Given the description of an element on the screen output the (x, y) to click on. 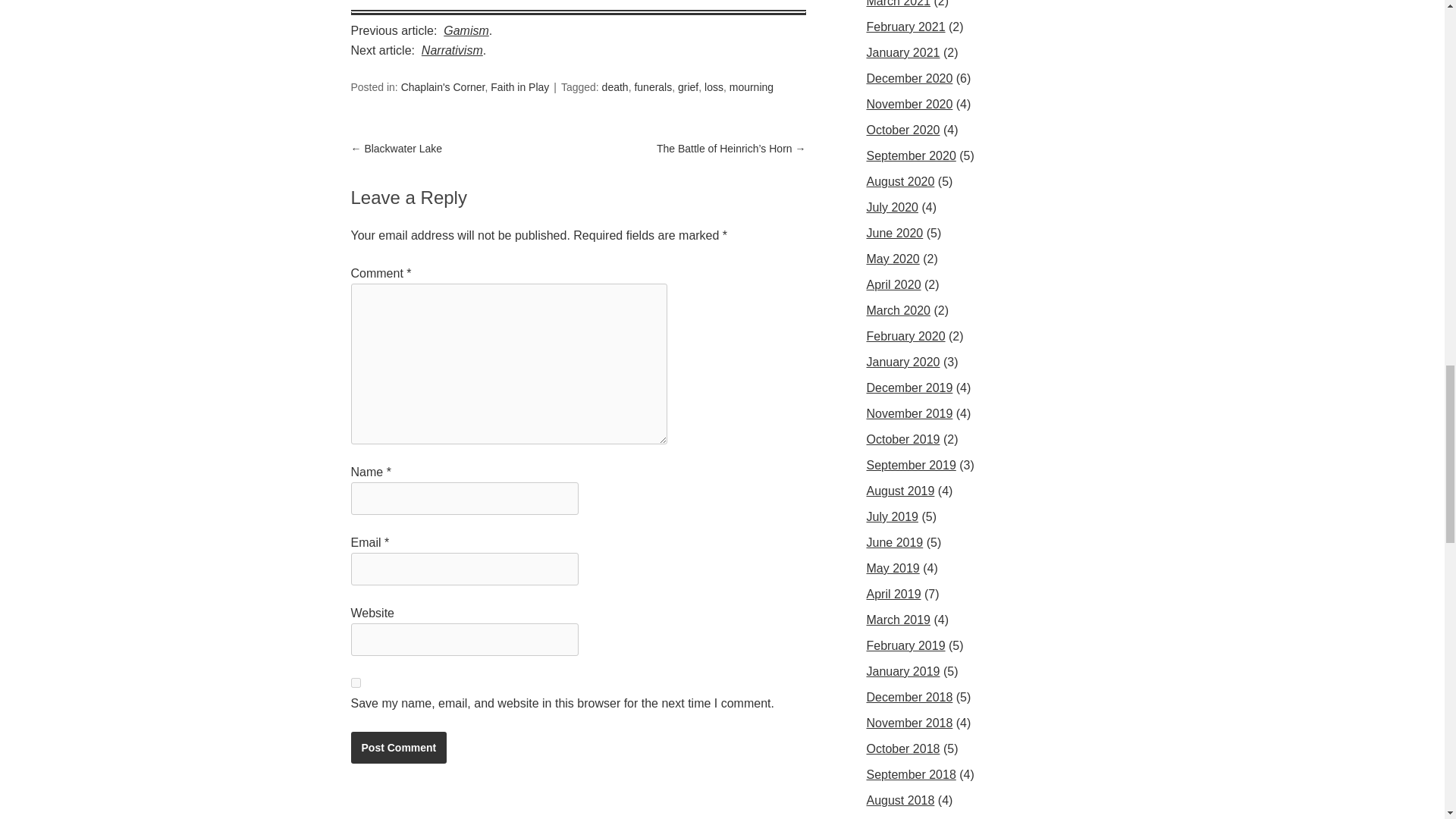
Chaplain's Corner (442, 87)
Gamism (466, 30)
grief (688, 87)
loss (713, 87)
Faith in Play (519, 87)
Narrativism (452, 50)
Post Comment (398, 747)
death (615, 87)
Post Comment (398, 747)
mourning (751, 87)
